Given the description of an element on the screen output the (x, y) to click on. 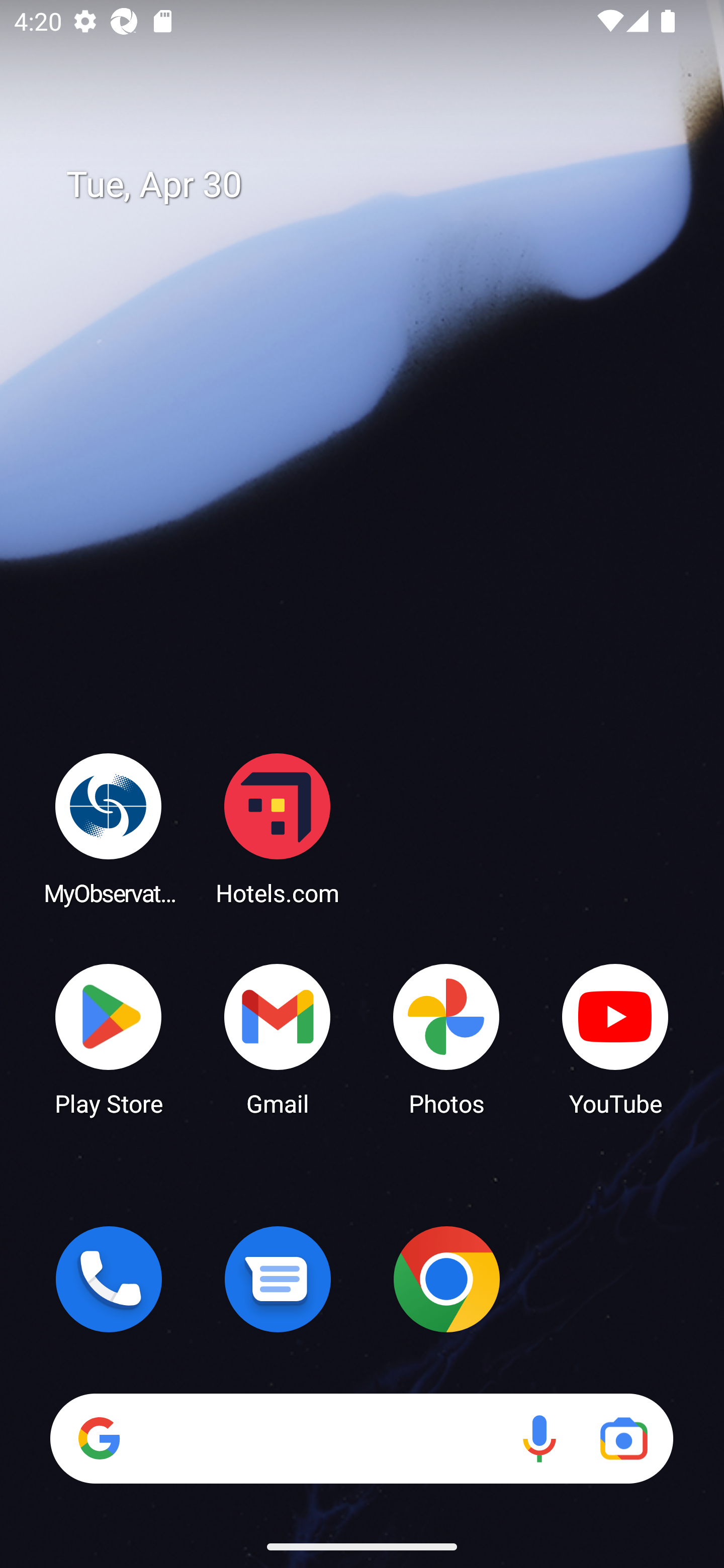
Tue, Apr 30 (375, 184)
MyObservatory (108, 828)
Hotels.com (277, 828)
Play Store (108, 1038)
Gmail (277, 1038)
Photos (445, 1038)
YouTube (615, 1038)
Phone (108, 1279)
Messages (277, 1279)
Chrome (446, 1279)
Voice search (539, 1438)
Google Lens (623, 1438)
